Given the description of an element on the screen output the (x, y) to click on. 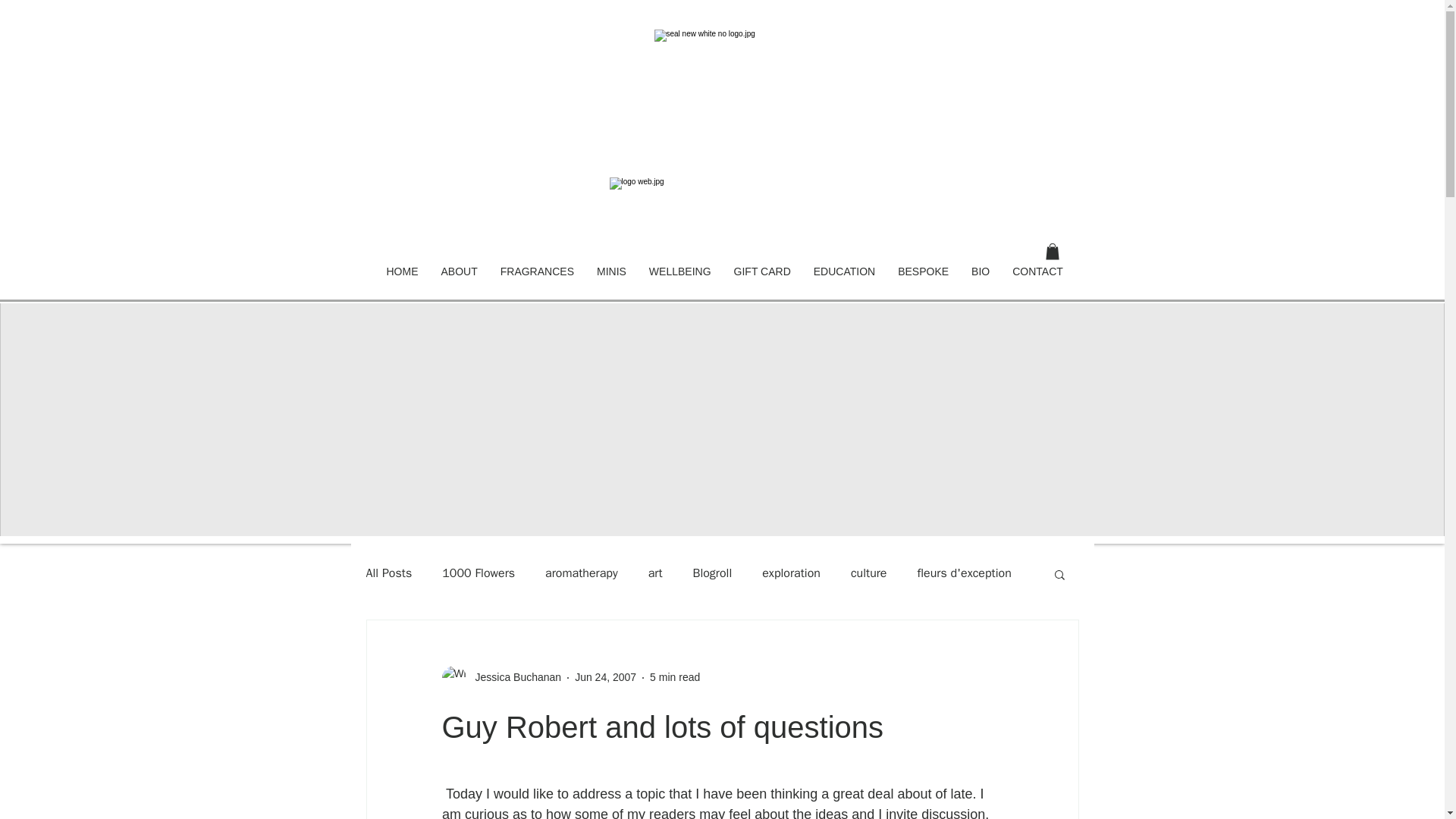
Jessica Buchanan (500, 677)
HOME (401, 282)
aromatherapy (580, 573)
5 min read (674, 676)
WELLBEING (679, 282)
BESPOKE (922, 282)
FRAGRANCES (537, 282)
GIFT CARD (762, 282)
art (654, 573)
Blogroll (712, 573)
exploration (791, 573)
Jun 24, 2007 (605, 676)
1000 Flowers (478, 573)
ABOUT (458, 282)
Jessica Buchanan (512, 677)
